Given the description of an element on the screen output the (x, y) to click on. 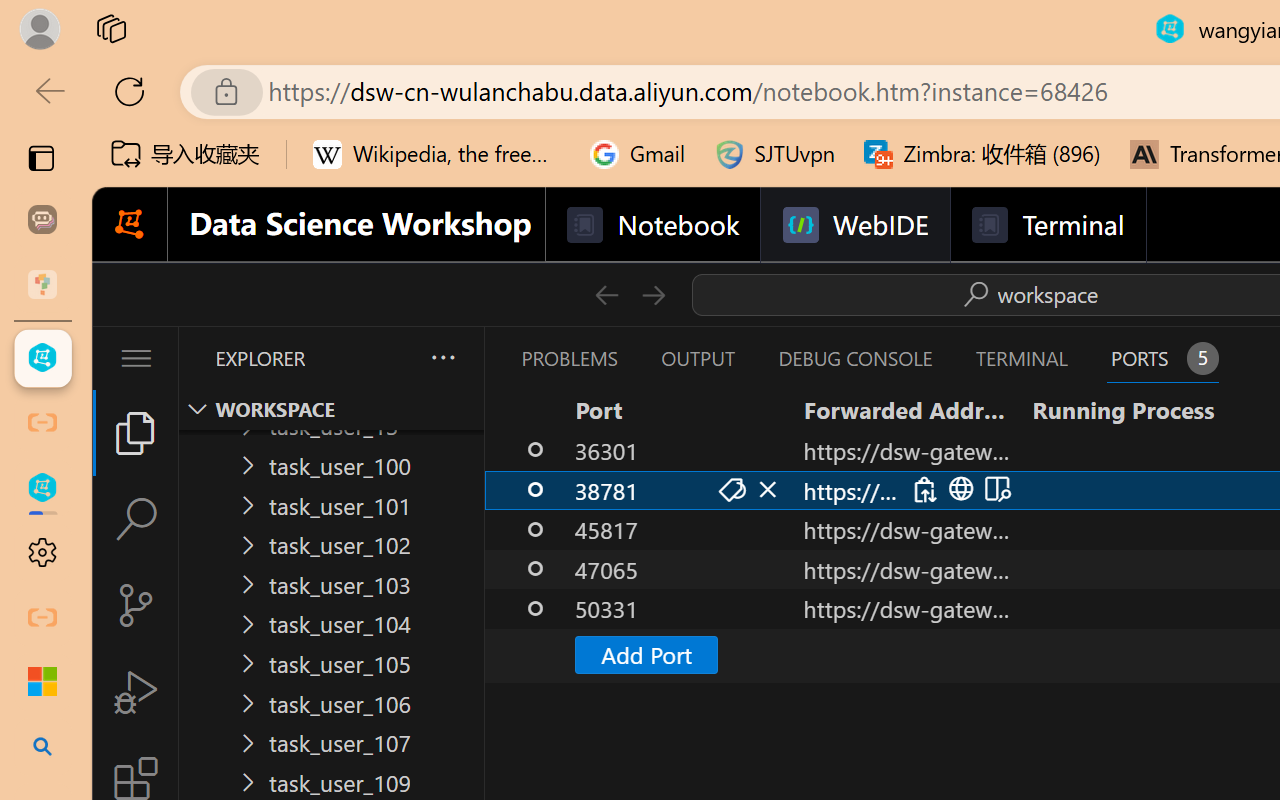
Add Port (645, 654)
Views and More Actions... (442, 357)
Microsoft security help and learning (42, 681)
Open in Browser (958, 489)
Run and Debug (Ctrl+Shift+D) (135, 692)
Gmail (637, 154)
wangyian_webcrawler - DSW (42, 487)
Set Port Label (F2) (730, 489)
Stop Forwarding Port (Delete) (766, 489)
SJTUvpn (774, 154)
